Given the description of an element on the screen output the (x, y) to click on. 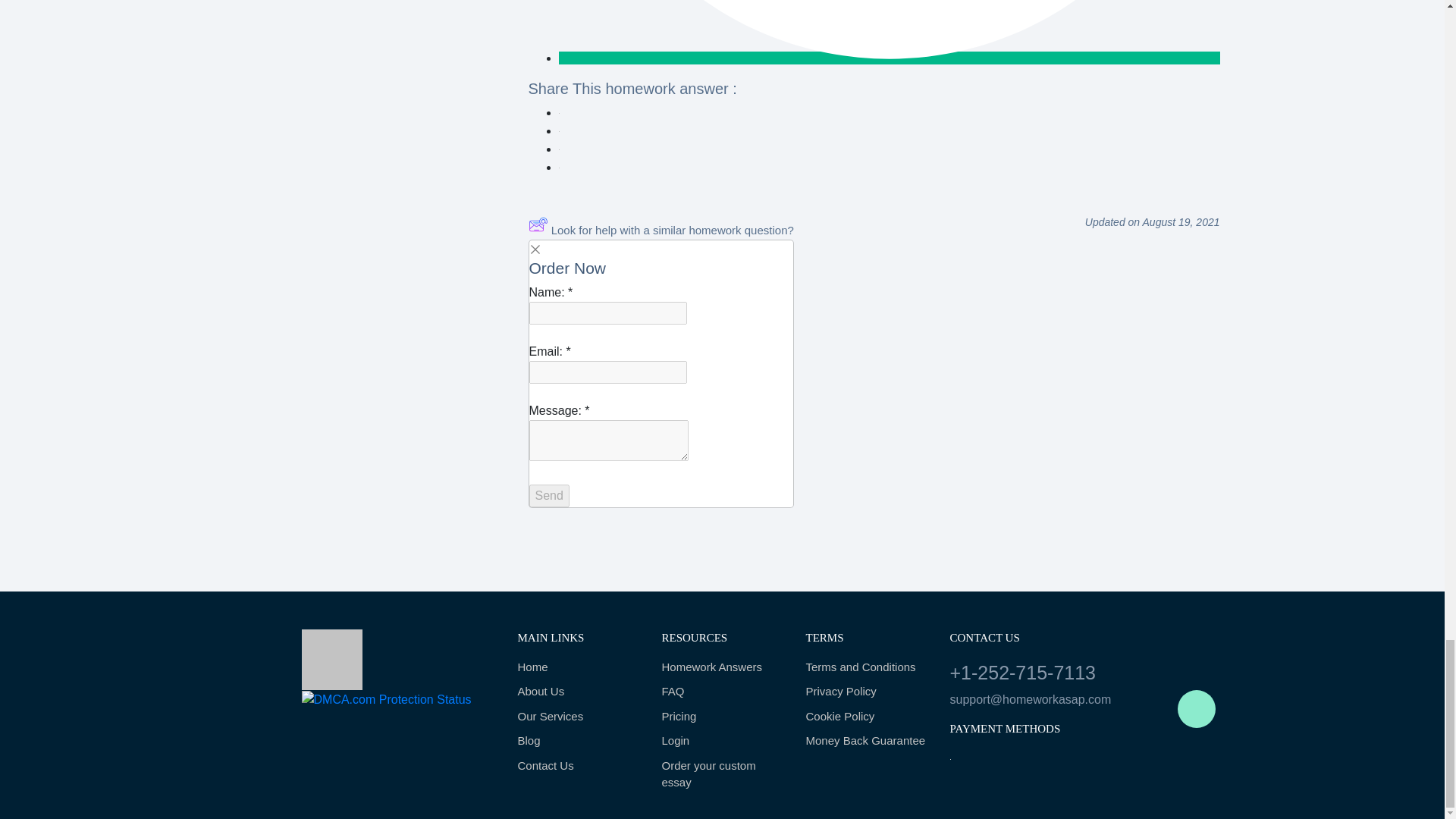
Homework Answers (722, 667)
Blog (577, 741)
Home (577, 667)
DMCA.com Protection Status (386, 698)
Send (549, 495)
Contact Us (577, 765)
Our Services (577, 716)
About Us (577, 692)
